Given the description of an element on the screen output the (x, y) to click on. 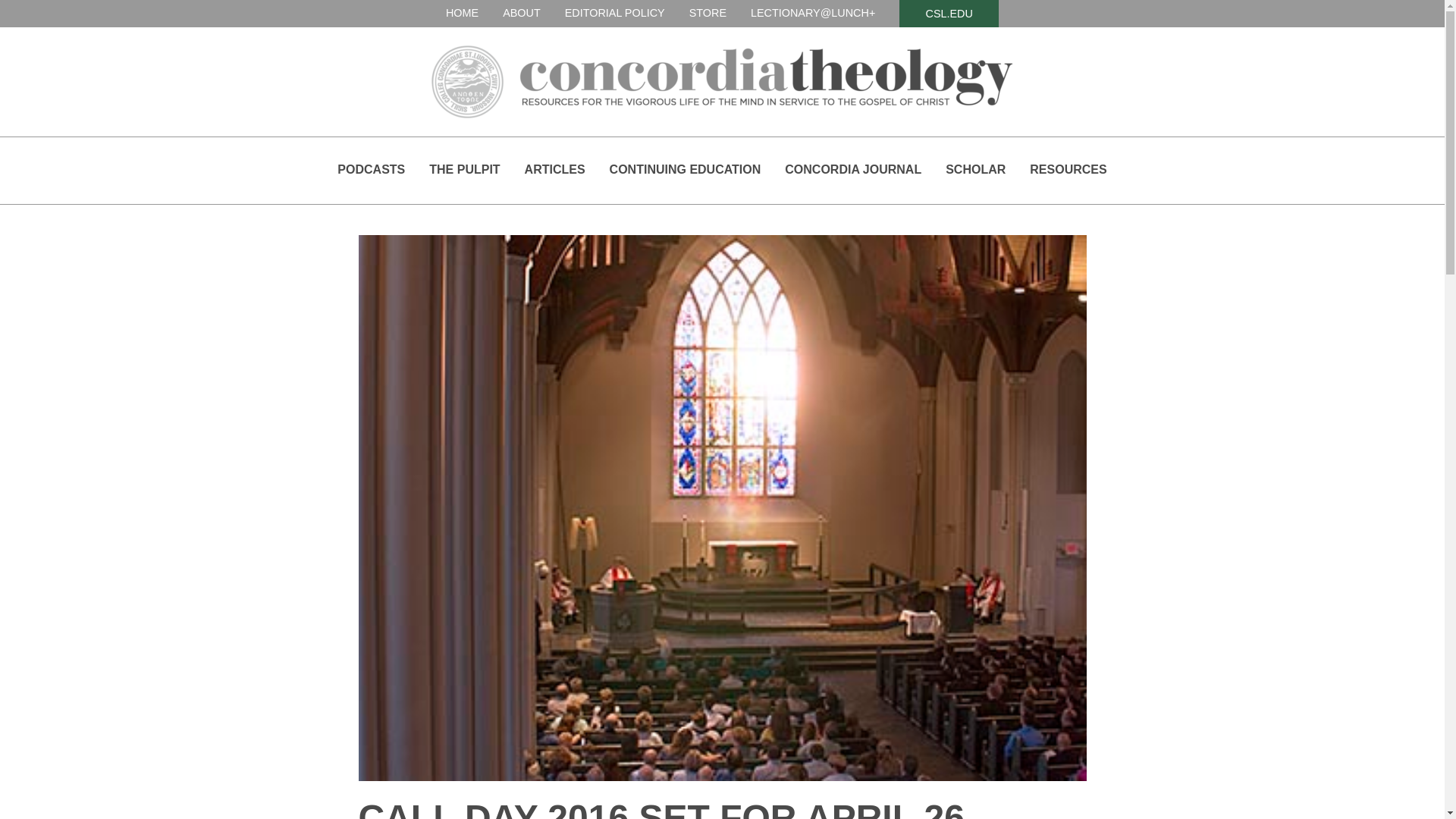
PODCASTS (370, 169)
ARTICLES (554, 169)
ABOUT (521, 12)
HOME (462, 12)
THE PULPIT (464, 169)
CONCORDIA JOURNAL (852, 169)
EDITORIAL POLICY (614, 12)
CONTINUING EDUCATION (685, 169)
RESOURCES (1067, 169)
SCHOLAR (975, 169)
CSL.EDU (948, 13)
STORE (707, 12)
